Given the description of an element on the screen output the (x, y) to click on. 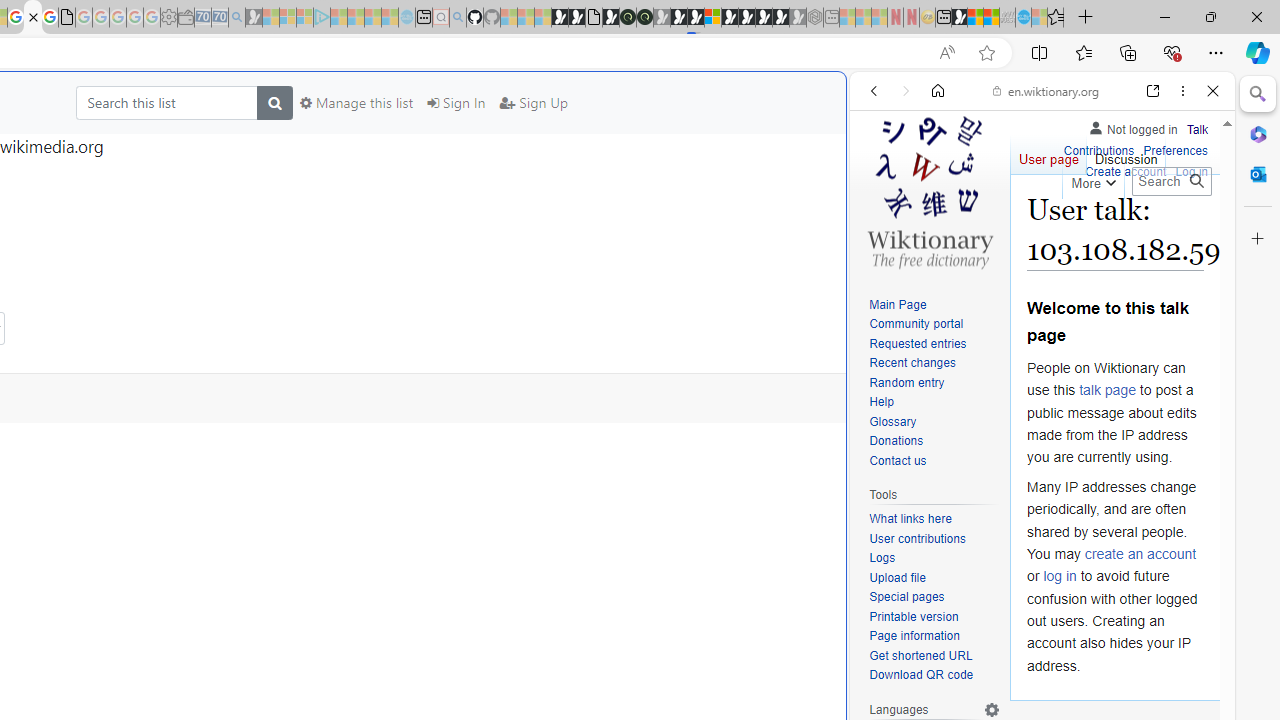
Upload file (934, 578)
Upload file (897, 577)
Future Focus Report 2024 (644, 17)
Glossary (934, 421)
Community portal (916, 323)
